Given the description of an element on the screen output the (x, y) to click on. 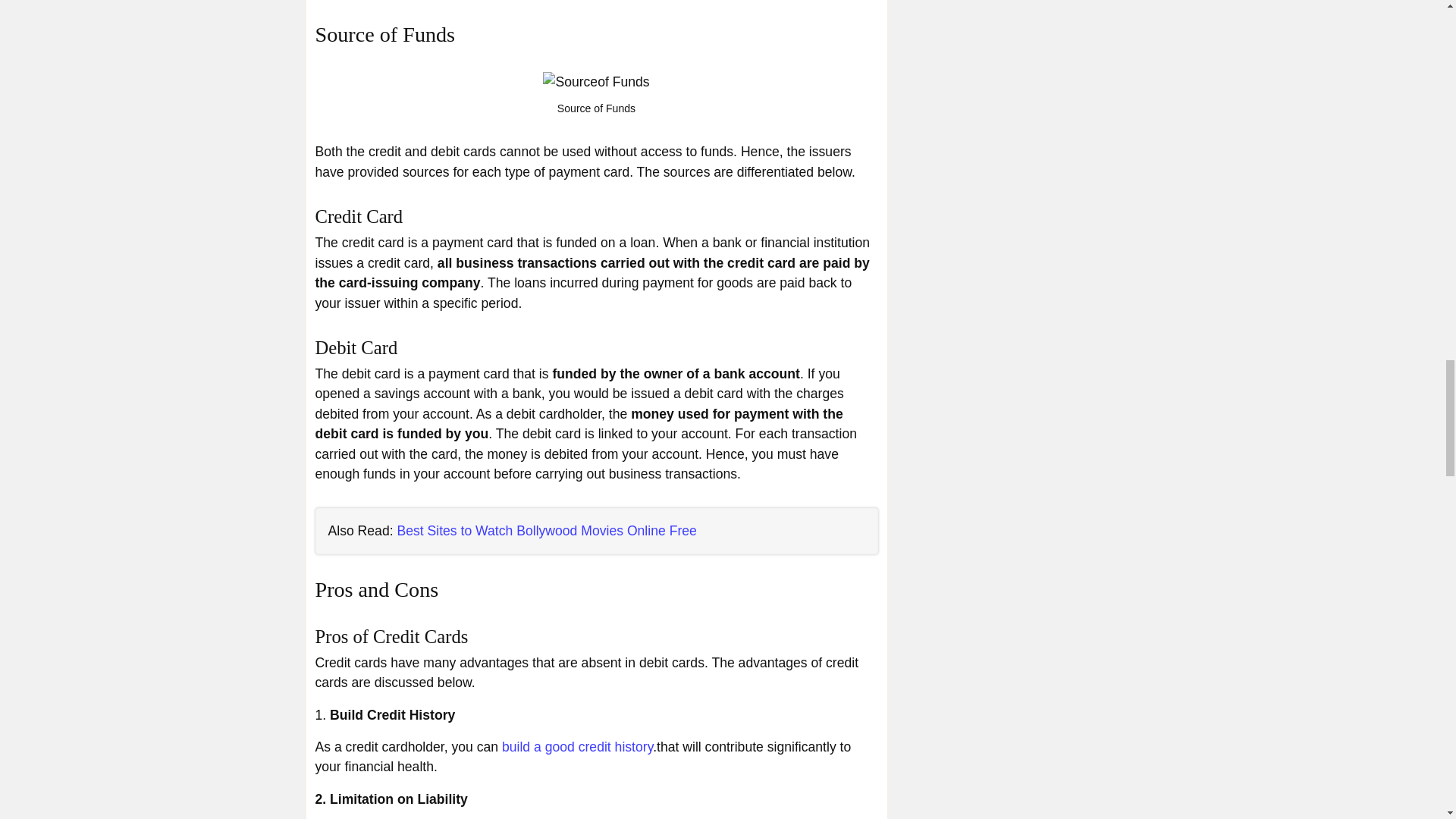
build a good credit history (577, 746)
Best Sites to Watch Bollywood Movies Online Free (545, 530)
